Given the description of an element on the screen output the (x, y) to click on. 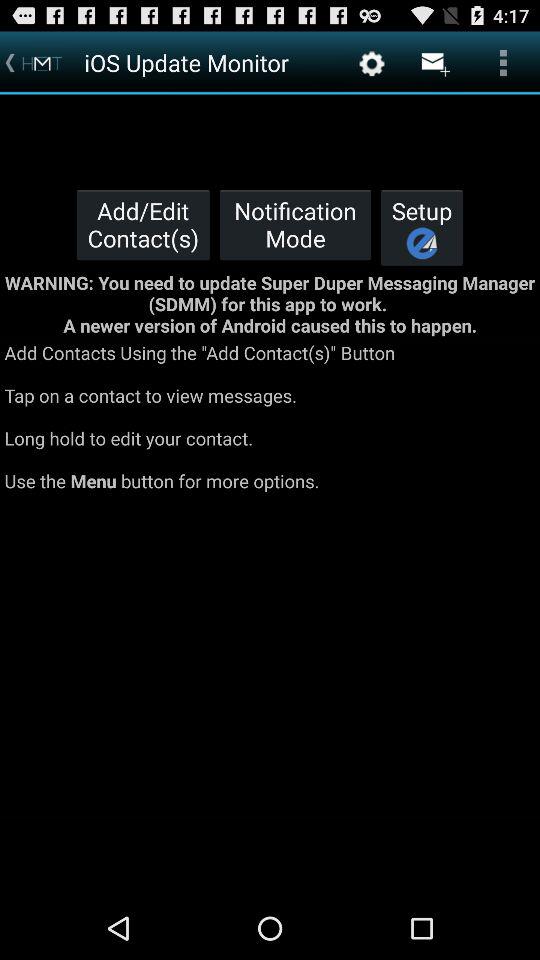
open icon above notification
mode icon (371, 62)
